Given the description of an element on the screen output the (x, y) to click on. 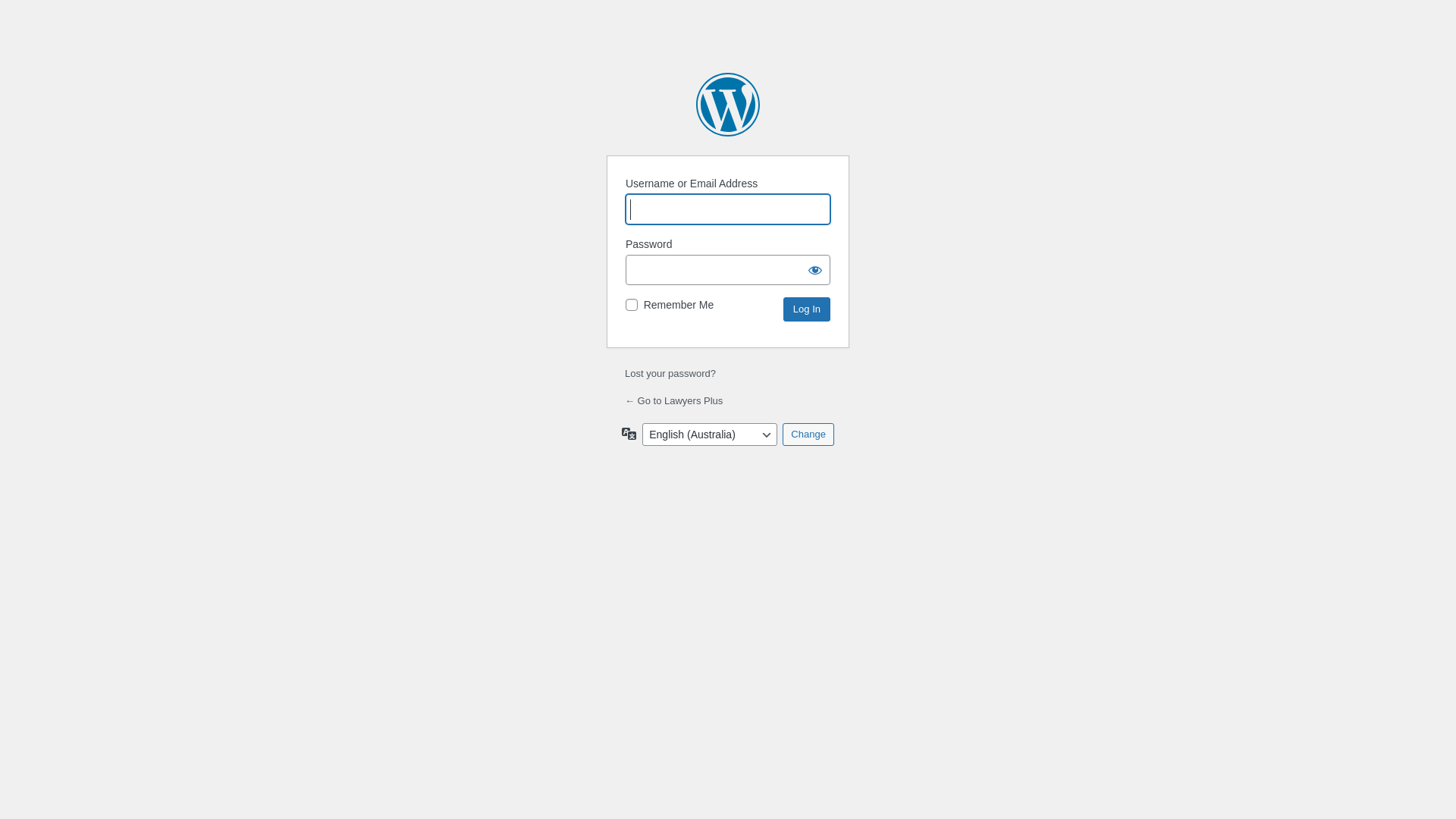
Change Element type: text (808, 434)
Lost your password? Element type: text (669, 373)
Log In Element type: text (806, 309)
Powered by WordPress Element type: text (727, 104)
